Given the description of an element on the screen output the (x, y) to click on. 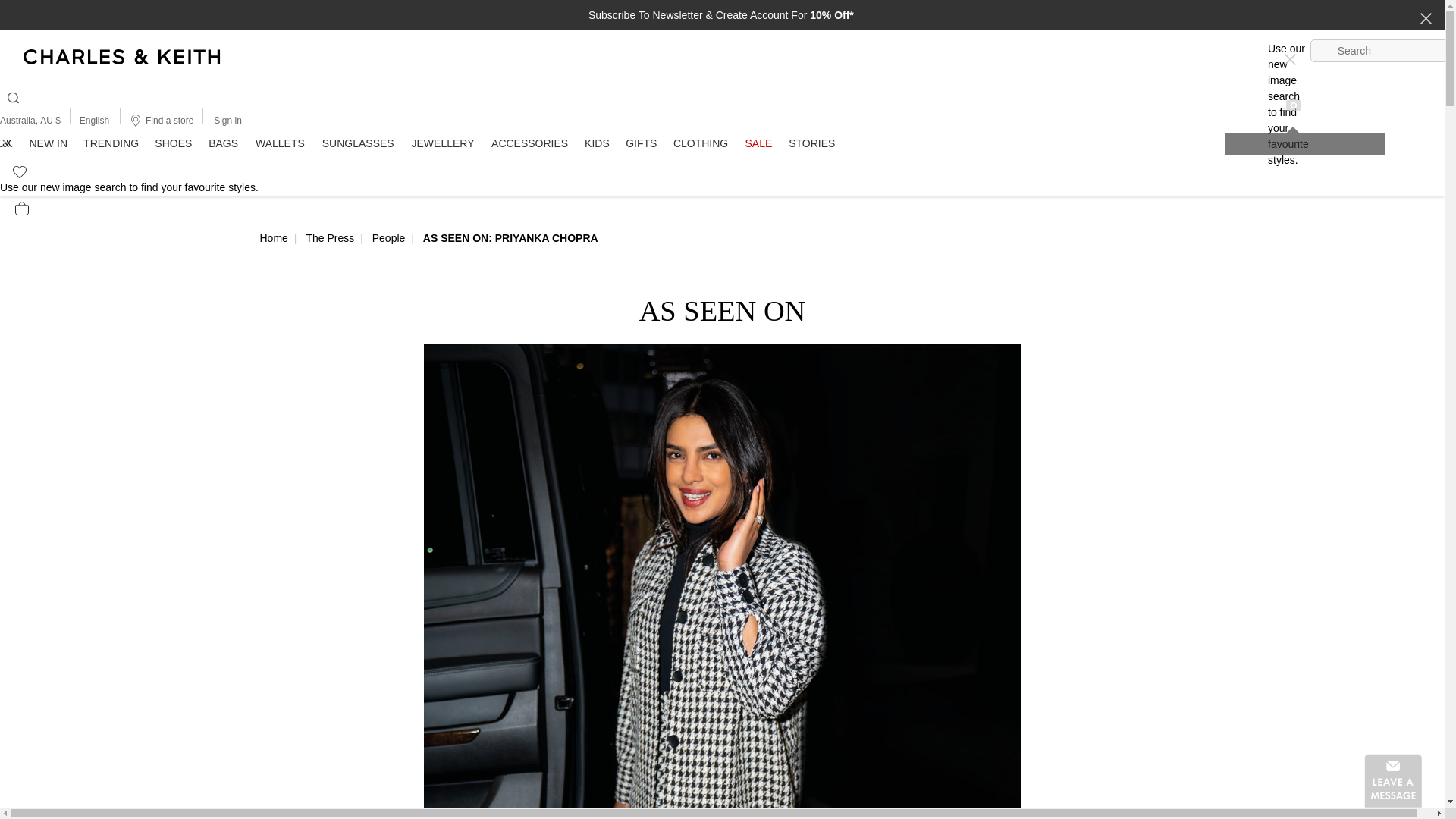
View Cart (21, 208)
GIFTS (641, 143)
CLOTHING (700, 143)
KIDS (596, 143)
Sign in (227, 120)
WALLETS (279, 143)
ACCESSORIES (529, 143)
SUNGLASSES (358, 143)
JEWELLERY (443, 143)
BAGS (223, 143)
TRENDING (111, 143)
STORIES (811, 143)
wishlist (13, 169)
Find a store (161, 120)
Australia, (20, 120)
